Given the description of an element on the screen output the (x, y) to click on. 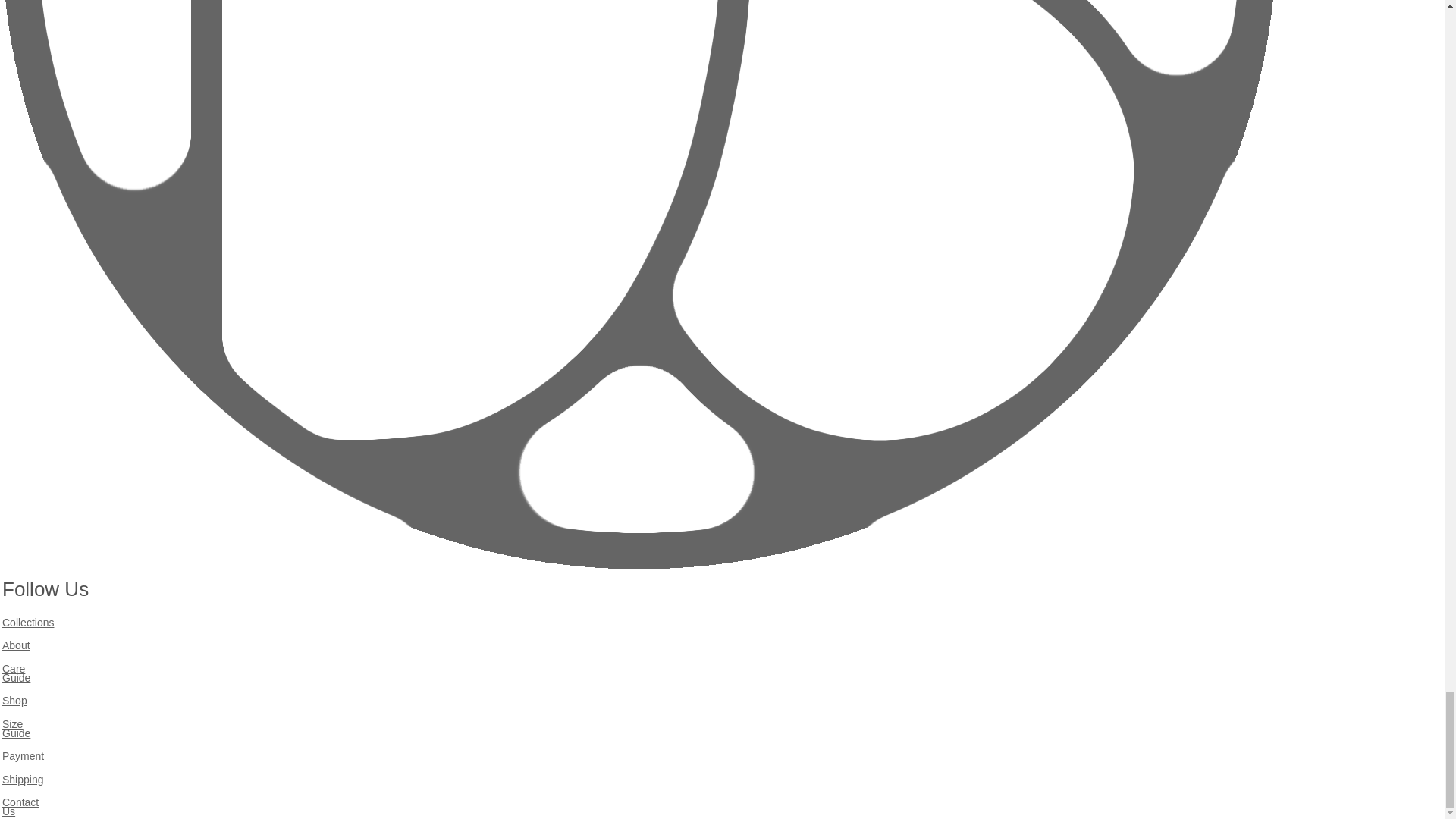
Contact Us (20, 807)
Size Guide (16, 729)
Collections (27, 622)
Care Guide (16, 673)
Shop (14, 700)
Payment (22, 756)
Shipping (22, 779)
About (16, 645)
